Given the description of an element on the screen output the (x, y) to click on. 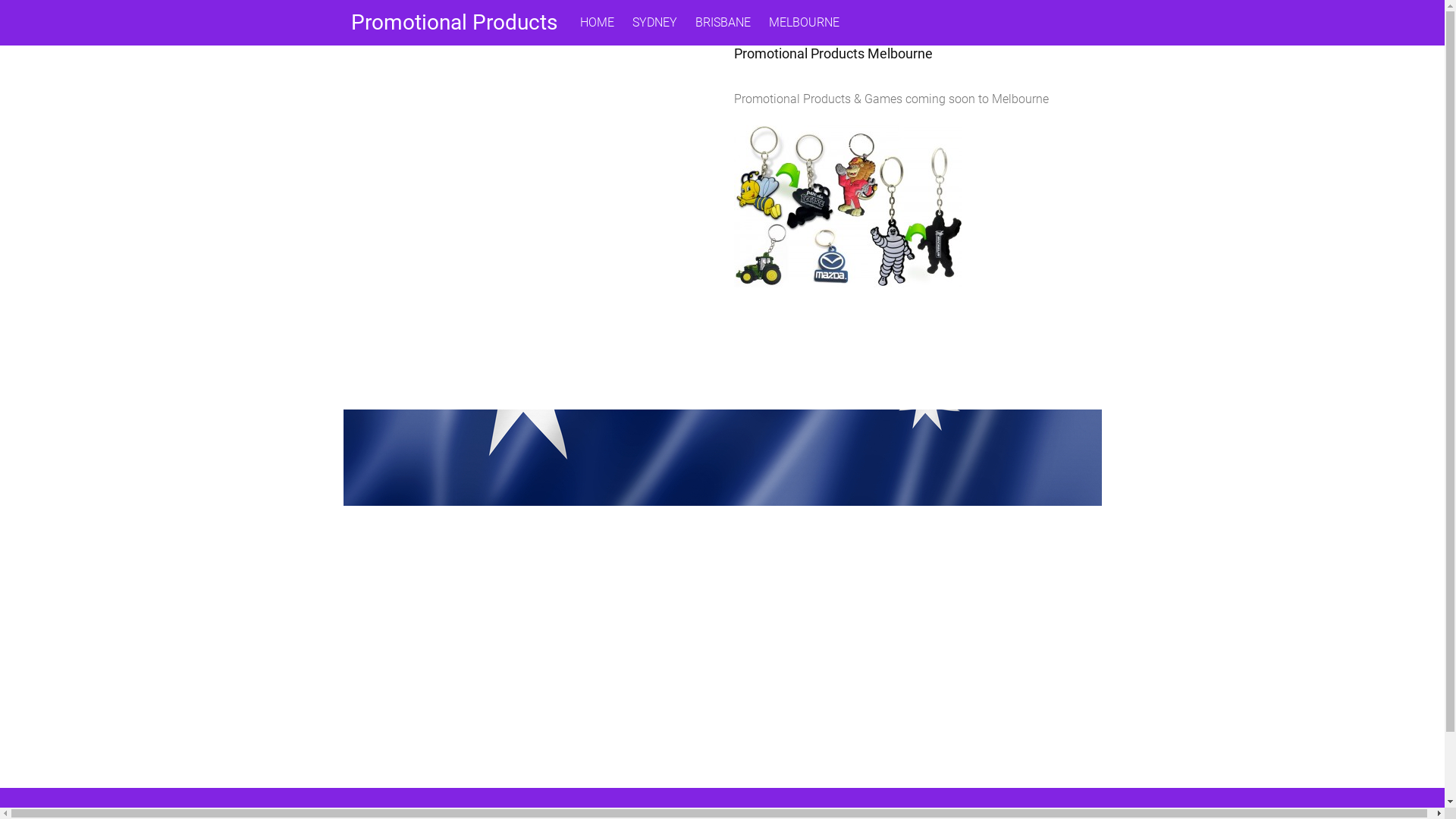
Promotional Products Element type: text (453, 22)
MELBOURNE Element type: text (804, 22)
BRISBANE Element type: text (722, 22)
Promotional Gifts Element type: hover (847, 283)
Skip to content Element type: text (0, 0)
SYDNEY Element type: text (654, 22)
HOME Element type: text (596, 22)
